Given the description of an element on the screen output the (x, y) to click on. 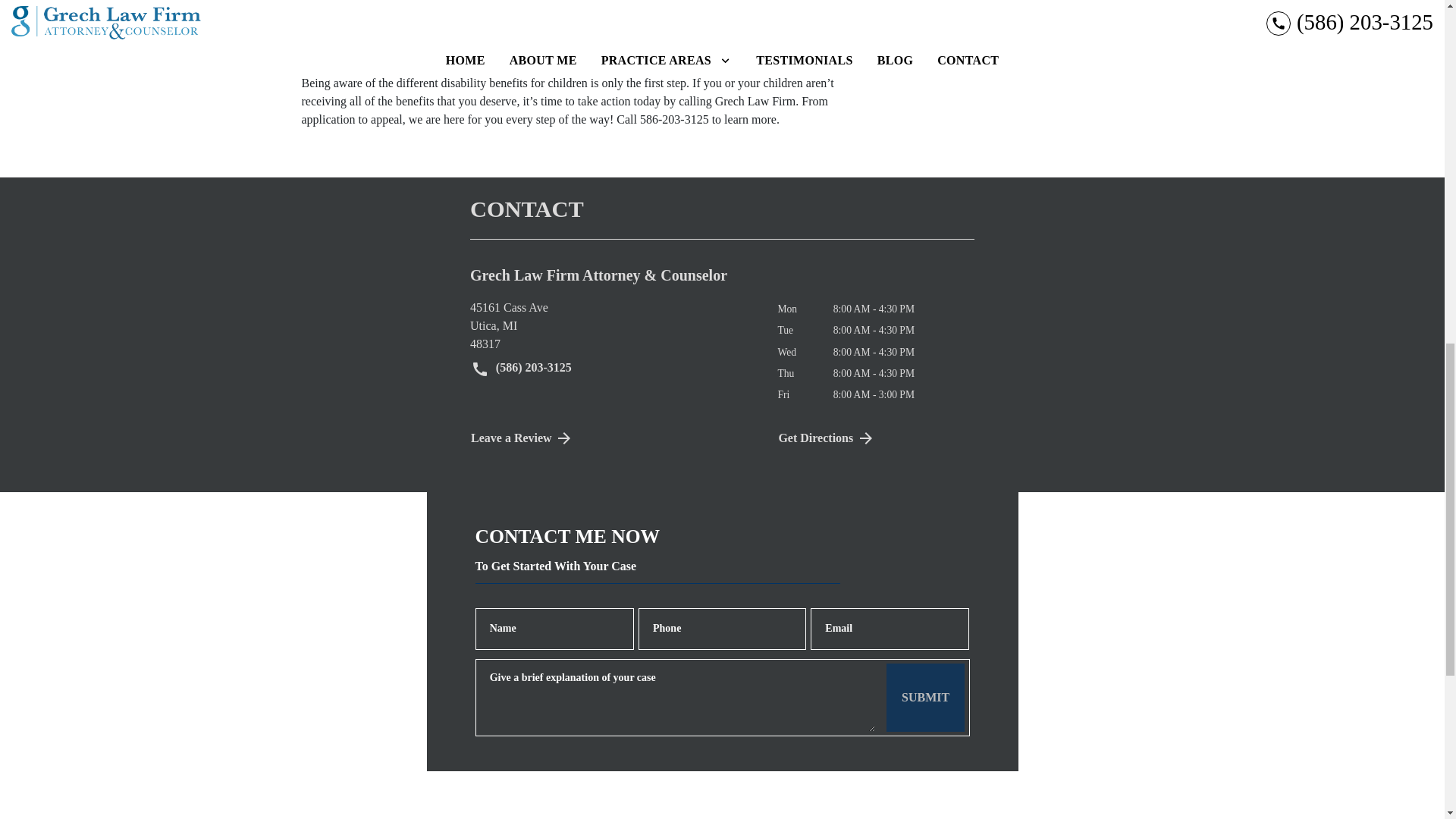
SUBMIT (612, 325)
Get Directions (924, 697)
Leave a Review (875, 438)
